Given the description of an element on the screen output the (x, y) to click on. 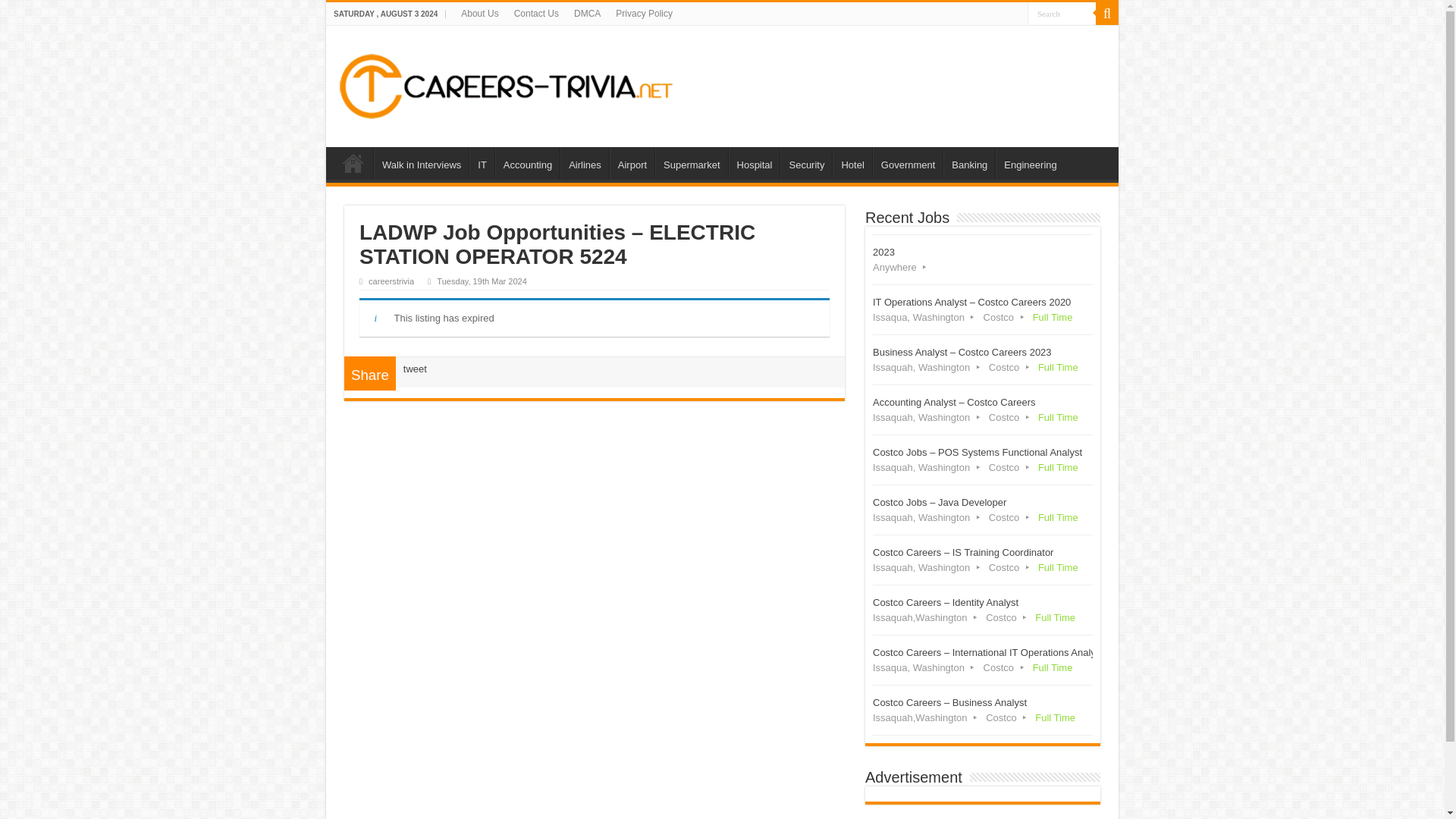
Search (1061, 13)
Search (1107, 13)
Hotel (851, 163)
Hospital (754, 163)
Airlines (584, 163)
Government (907, 163)
Privacy Policy (643, 13)
Banking (968, 163)
careerstrivia (390, 280)
tweet (414, 368)
Engineering (1029, 163)
Security (805, 163)
Walk in Interviews (421, 163)
Supermarket (690, 163)
DMCA (587, 13)
